Given the description of an element on the screen output the (x, y) to click on. 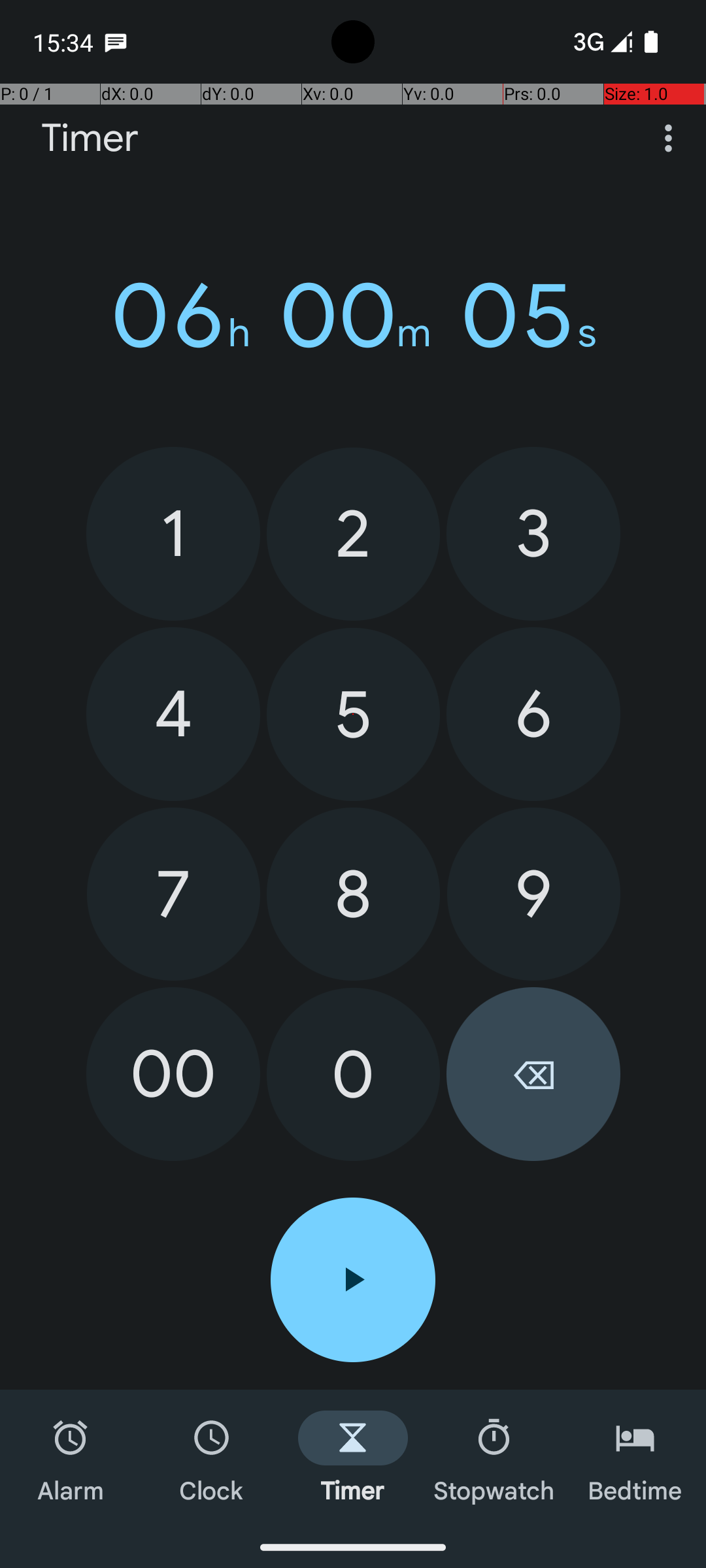
06h 00m 05s Element type: android.widget.TextView (353, 315)
